Given the description of an element on the screen output the (x, y) to click on. 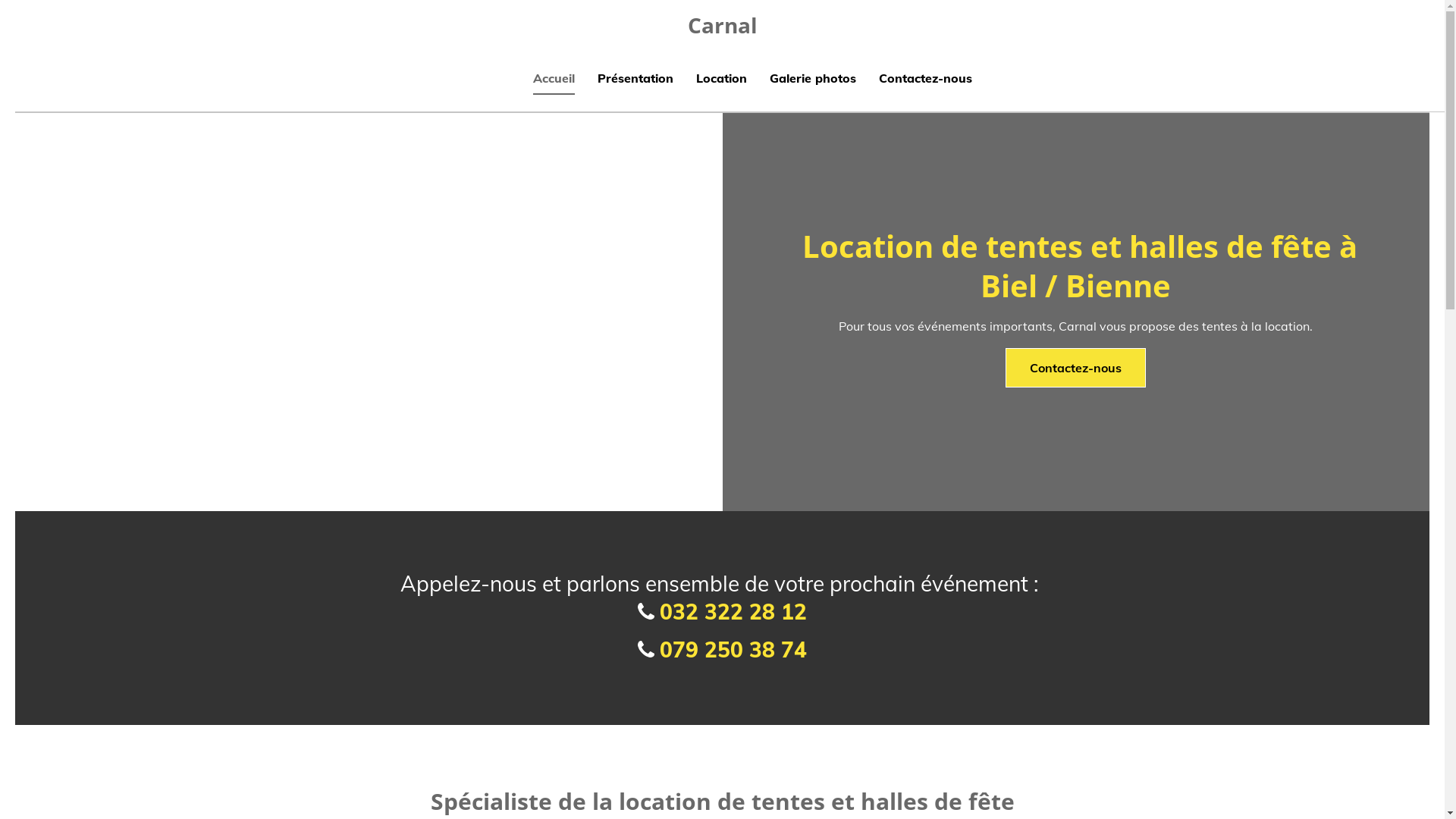
Galerie photos Element type: text (812, 80)
Contactez-nous Element type: text (1075, 367)
079 250 38 74 Element type: text (732, 649)
Contactez-nous Element type: text (925, 80)
032 322 28 12 Element type: text (732, 611)
Carnal Element type: text (721, 24)
Location Element type: text (721, 80)
Accueil Element type: text (553, 80)
